Given the description of an element on the screen output the (x, y) to click on. 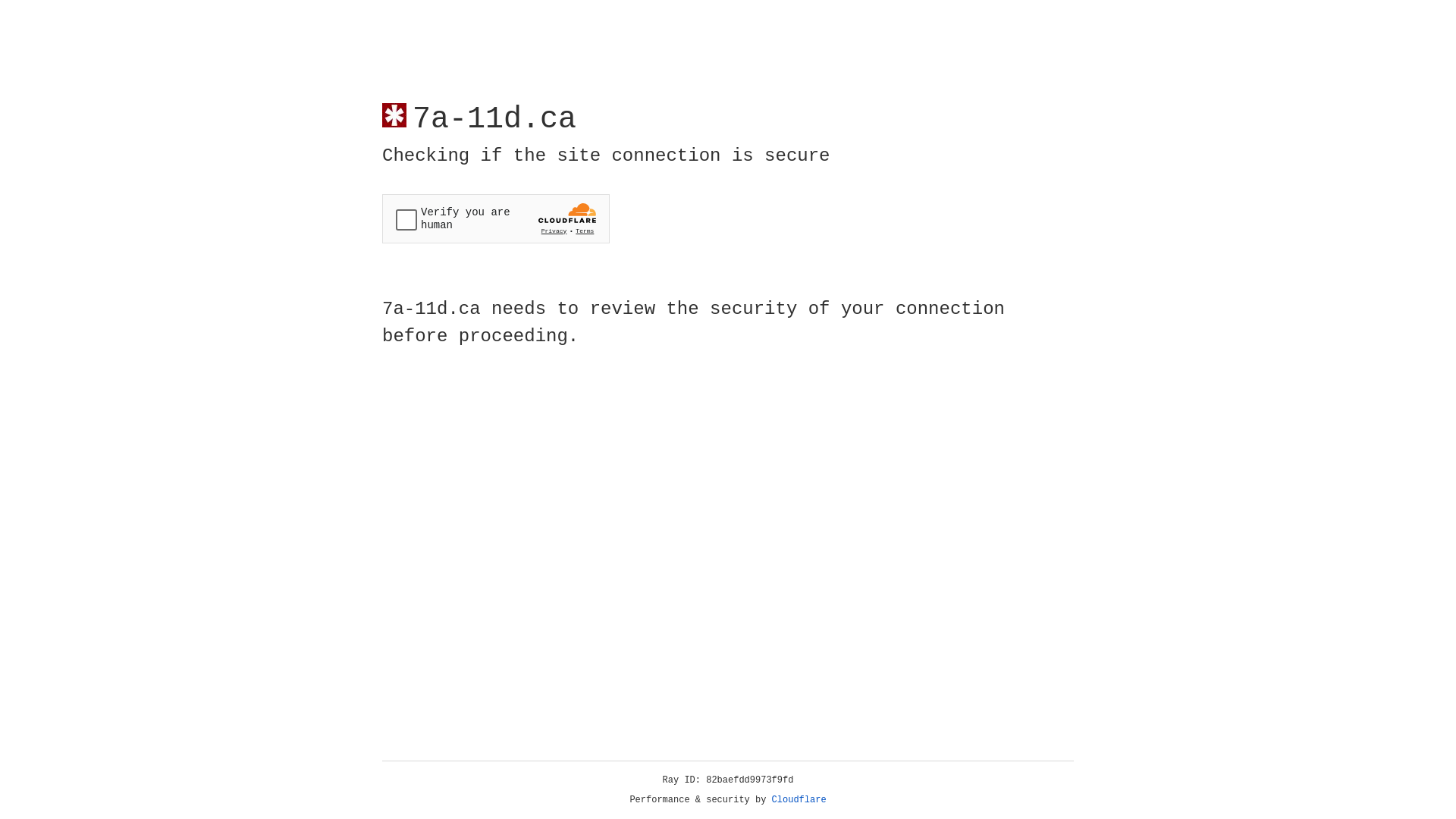
Widget containing a Cloudflare security challenge Element type: hover (495, 218)
Cloudflare Element type: text (798, 799)
